Given the description of an element on the screen output the (x, y) to click on. 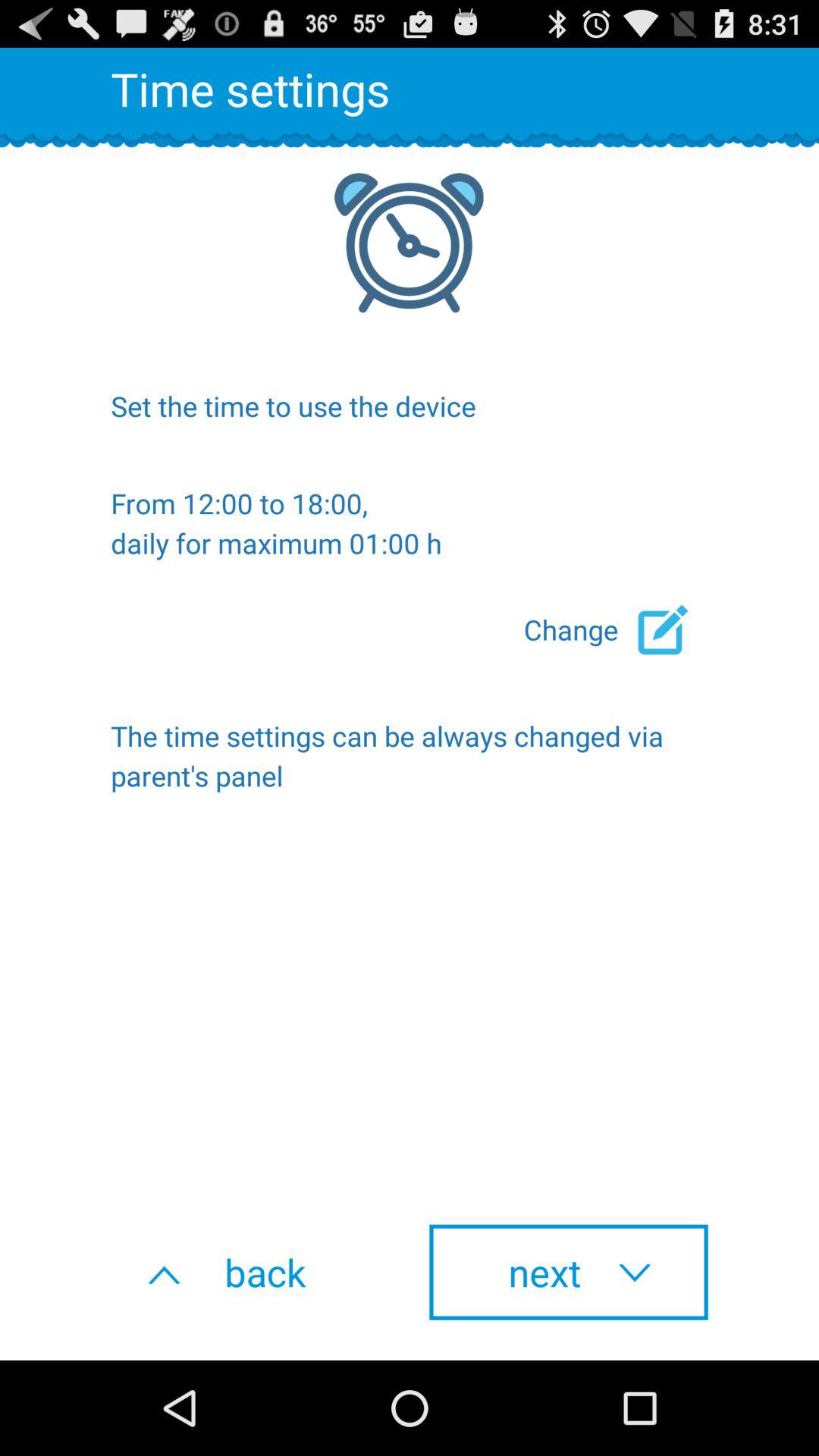
select the back at the bottom left corner (249, 1272)
